Given the description of an element on the screen output the (x, y) to click on. 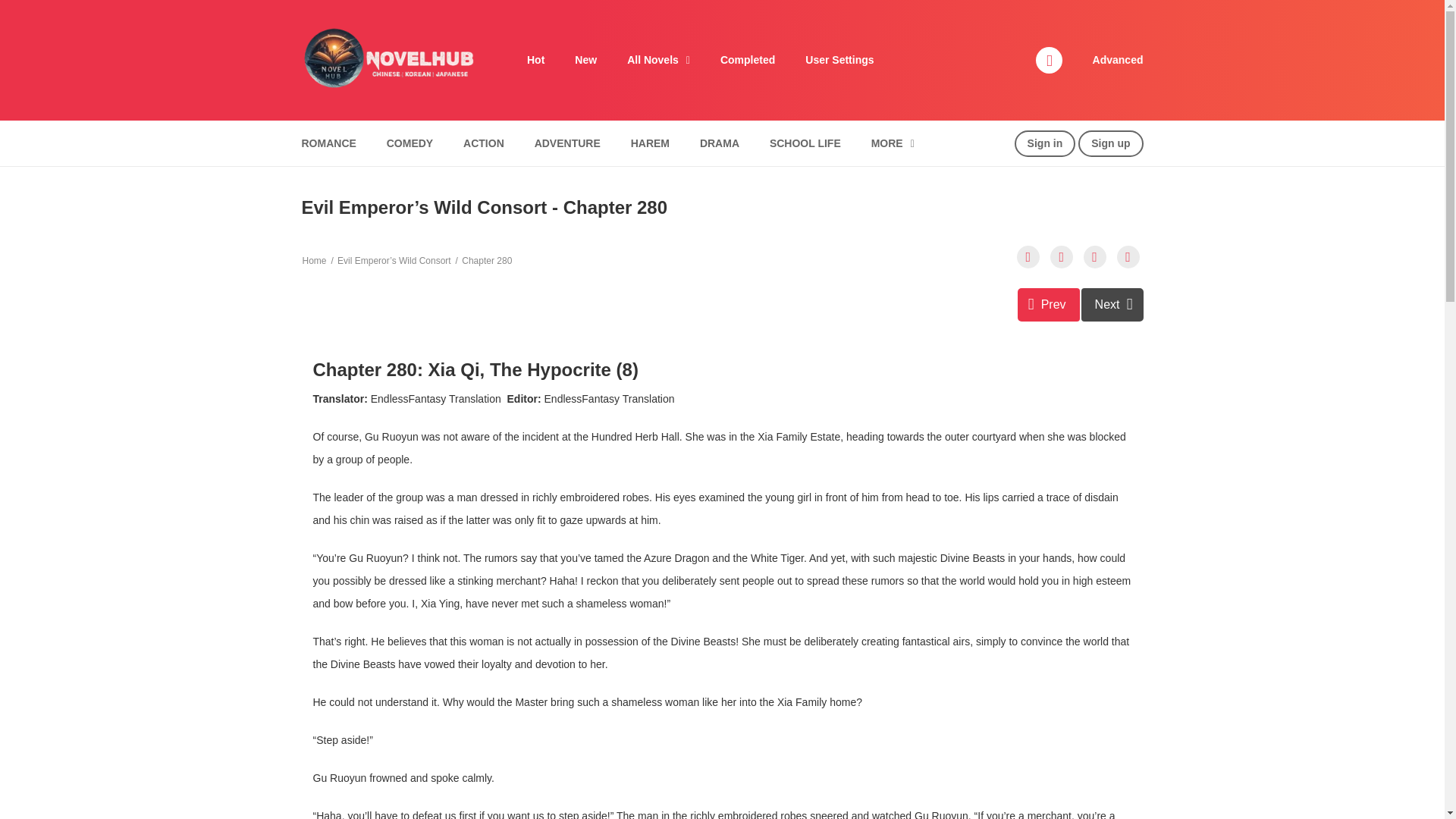
ROMANCE (328, 143)
Completed (747, 59)
ACTION (482, 143)
DRAMA (719, 143)
User Settings (839, 59)
HAREM (650, 143)
Hot (535, 59)
Bookmark (1111, 304)
ADVENTURE (1094, 256)
